Given the description of an element on the screen output the (x, y) to click on. 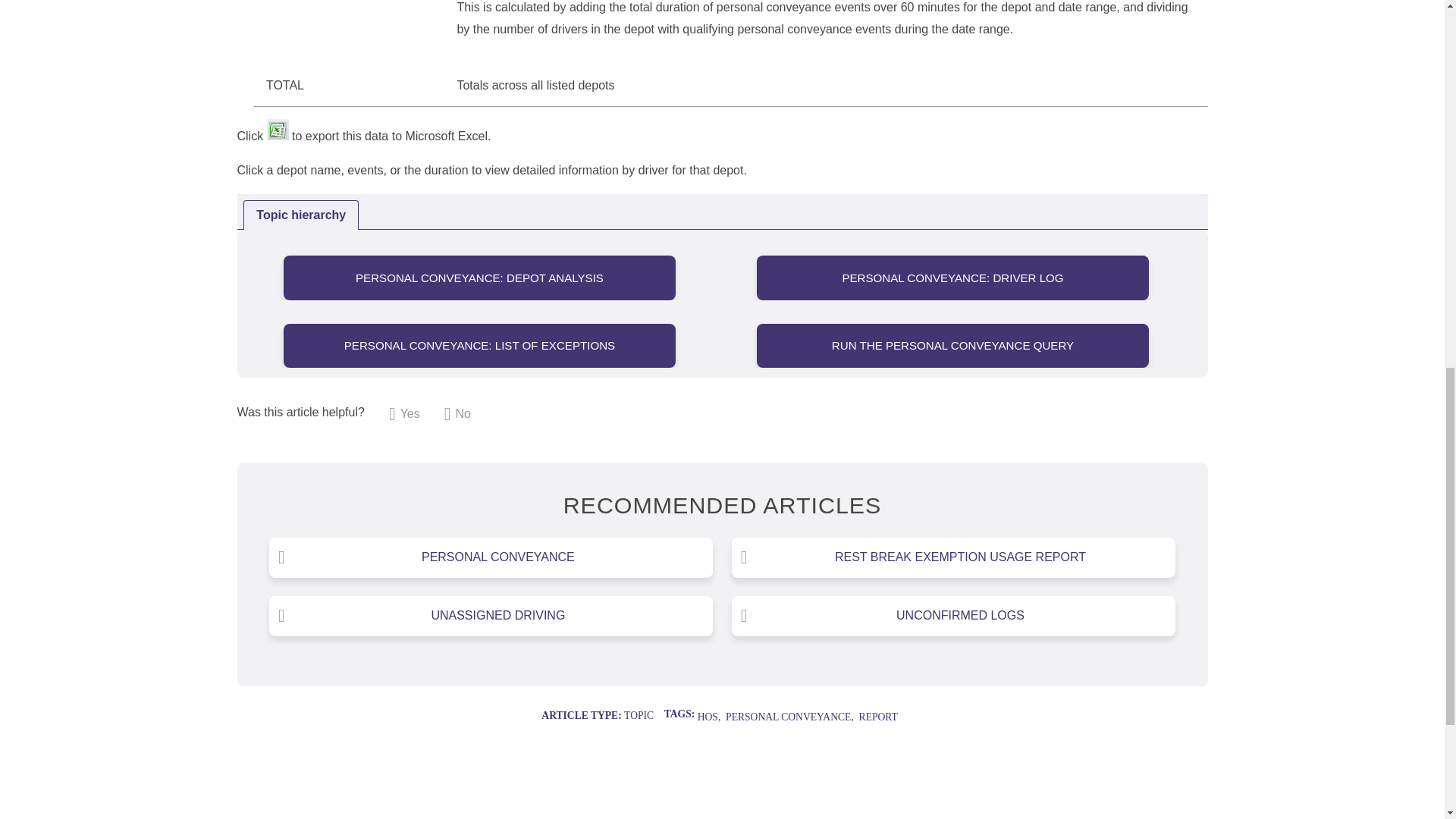
Yes (404, 413)
Topic hierarchy (721, 212)
PERSONAL CONVEYANCE: DEPOT ANALYSIS (479, 277)
UNCONFIRMED LOGS (953, 616)
PERSONAL CONVEYANCE: DRIVER LOG (951, 277)
REST BREAK EXEMPTION USAGE REPORT (953, 557)
TOPIC (638, 715)
RUN THE PERSONAL CONVEYANCE QUERY (952, 344)
Run the Personal Conveyance Query (952, 344)
REPORT (878, 716)
HOS (707, 716)
PERSONAL CONVEYANCE: LIST OF EXCEPTIONS (478, 344)
Topic hierarchy (721, 212)
No (457, 413)
